Given the description of an element on the screen output the (x, y) to click on. 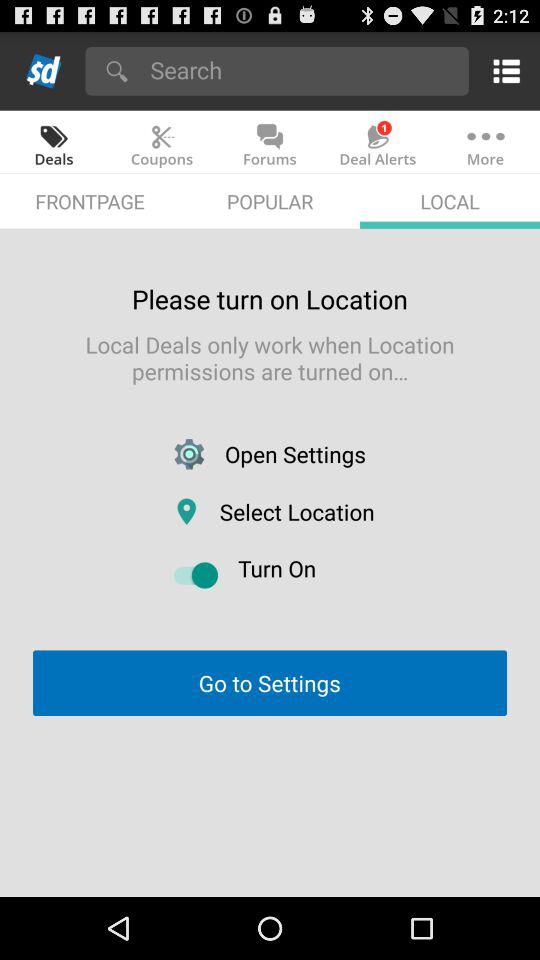
flip until go to settings (269, 682)
